Given the description of an element on the screen output the (x, y) to click on. 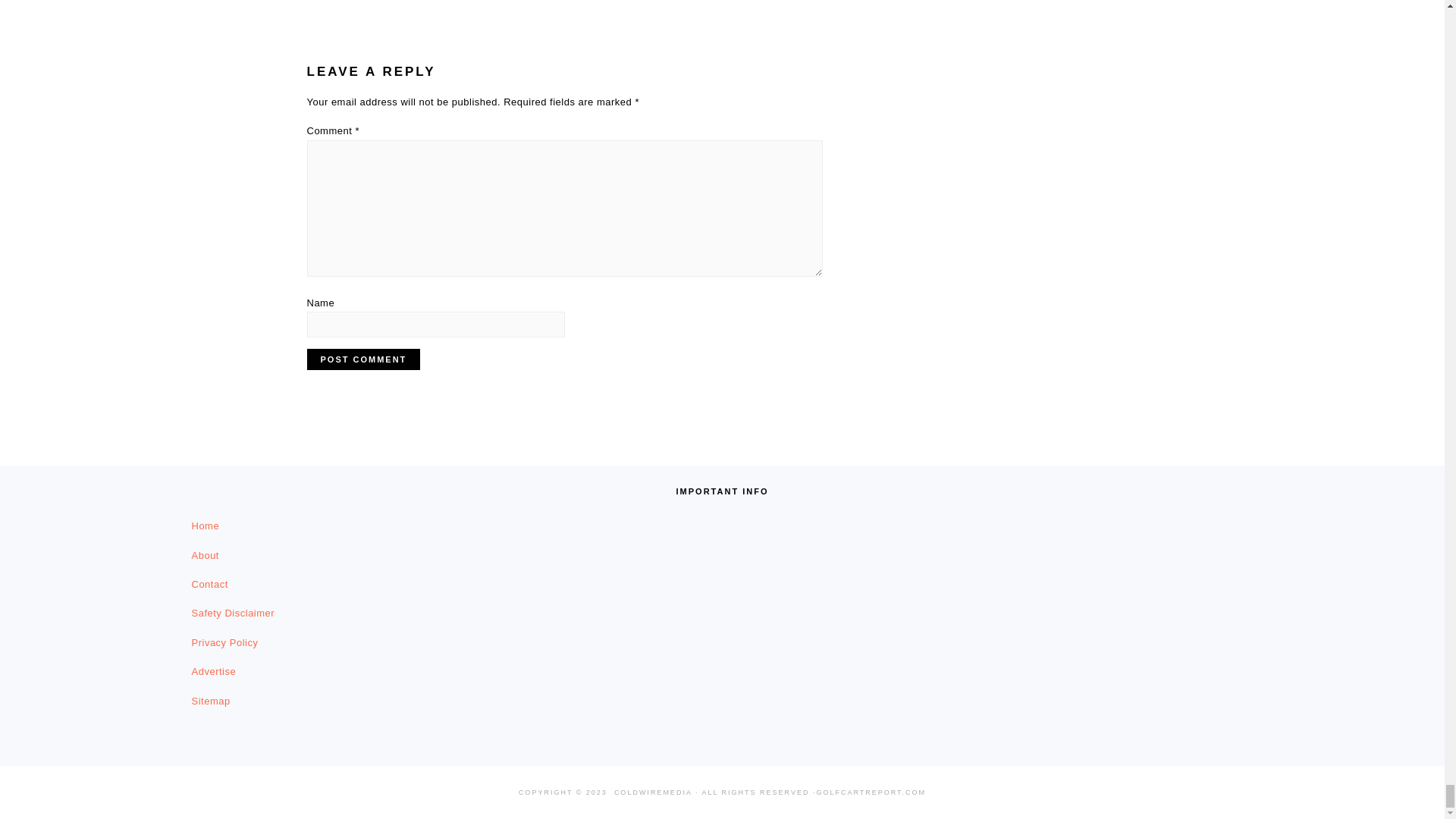
Privacy Policy (223, 642)
Advertise (212, 671)
About (204, 555)
Sitemap (210, 700)
Post Comment (362, 359)
Contact (208, 583)
Safety Disclaimer (232, 613)
Post Comment (362, 359)
COLDWIREMEDIA (653, 792)
Home (204, 525)
